Given the description of an element on the screen output the (x, y) to click on. 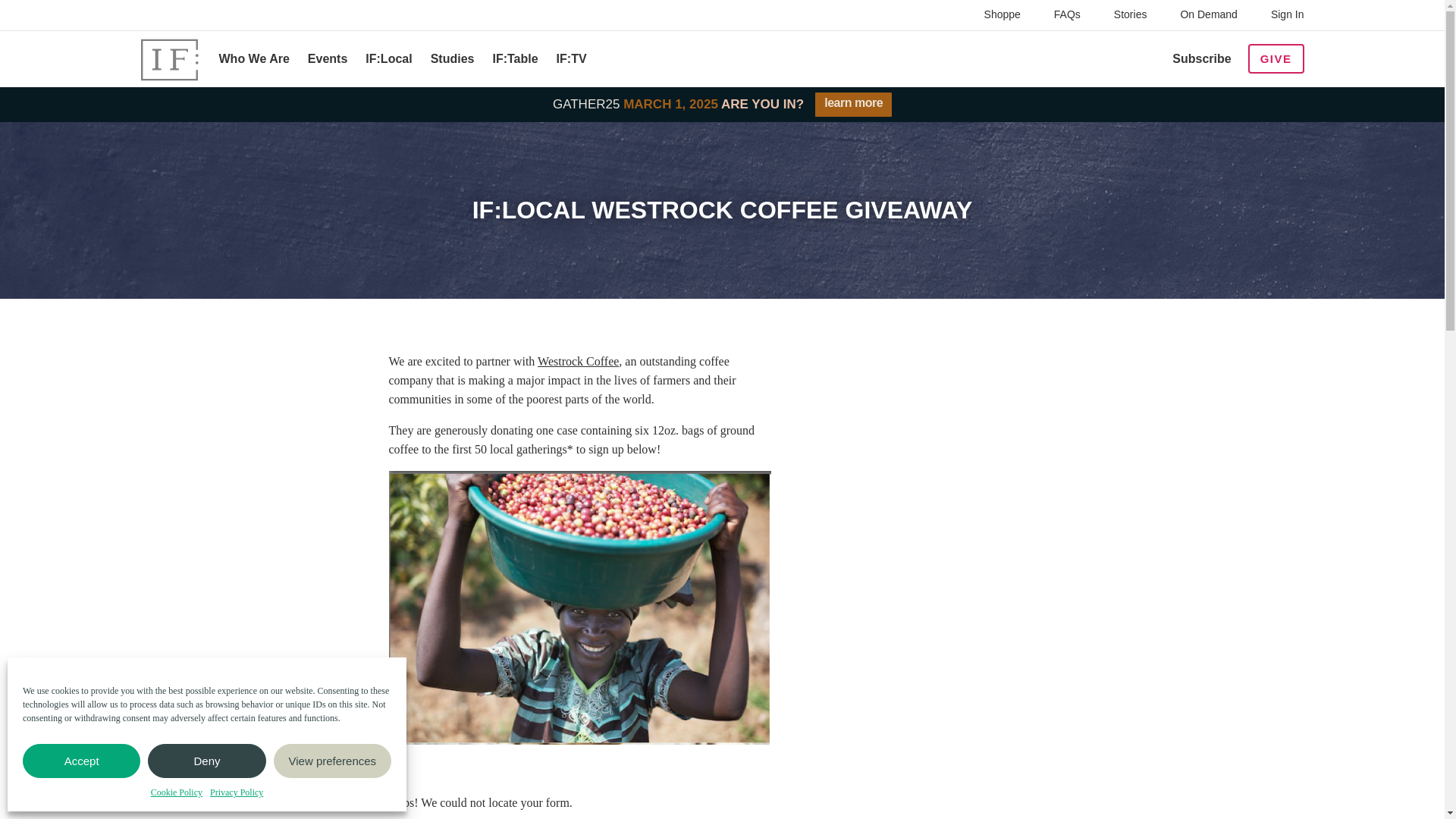
IF:Local (388, 59)
Who We Are (252, 59)
View preferences (332, 760)
Studies (452, 59)
Westrock (577, 360)
Accept (81, 760)
GIVE (1275, 58)
Events (327, 59)
Privacy Policy (236, 792)
IF:Table (514, 59)
Cookie Policy (176, 792)
IF:TV (571, 59)
Deny (206, 760)
Subscribe (1200, 59)
